Given the description of an element on the screen output the (x, y) to click on. 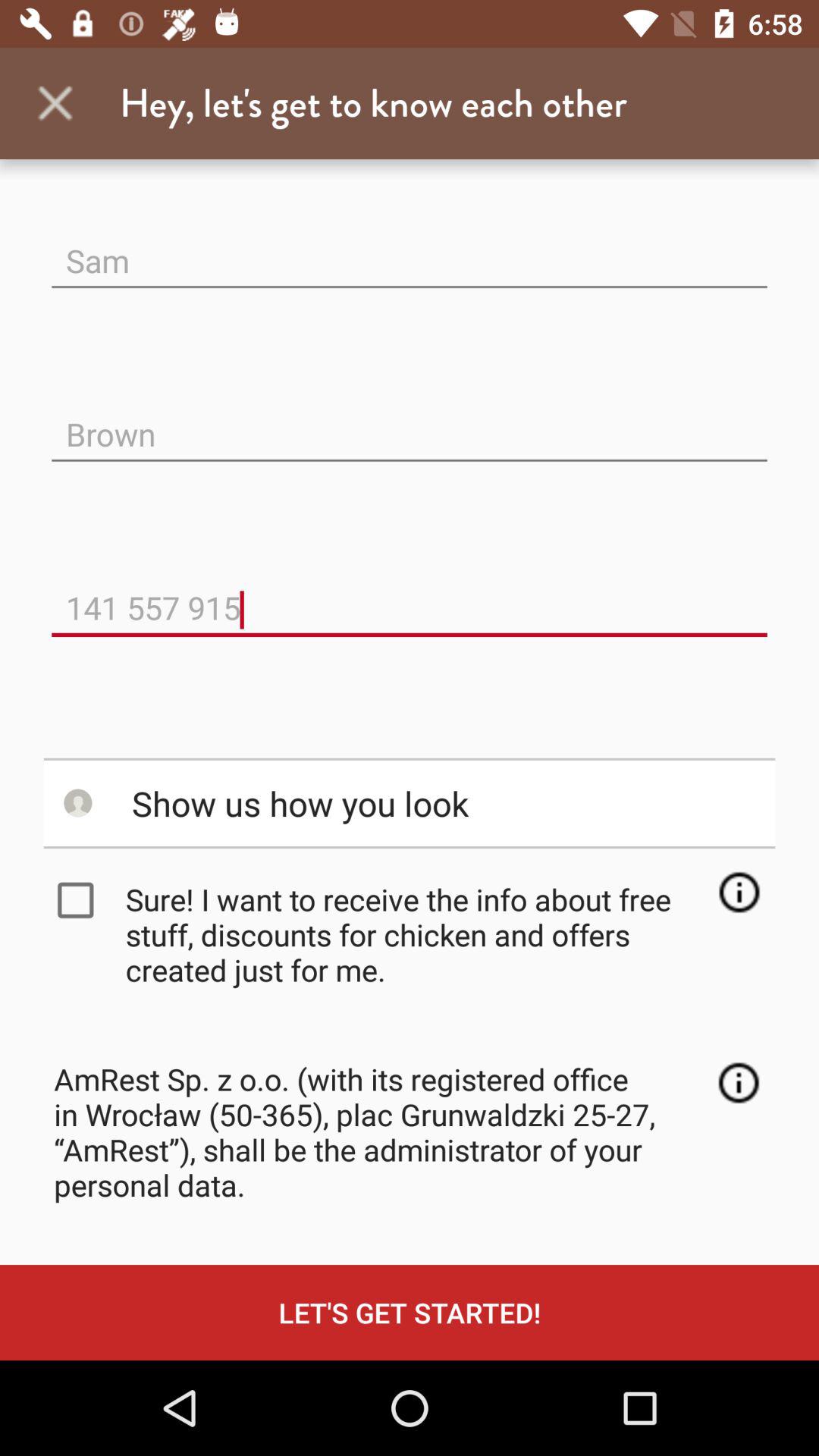
press icon to the left of the hey let s app (55, 103)
